Given the description of an element on the screen output the (x, y) to click on. 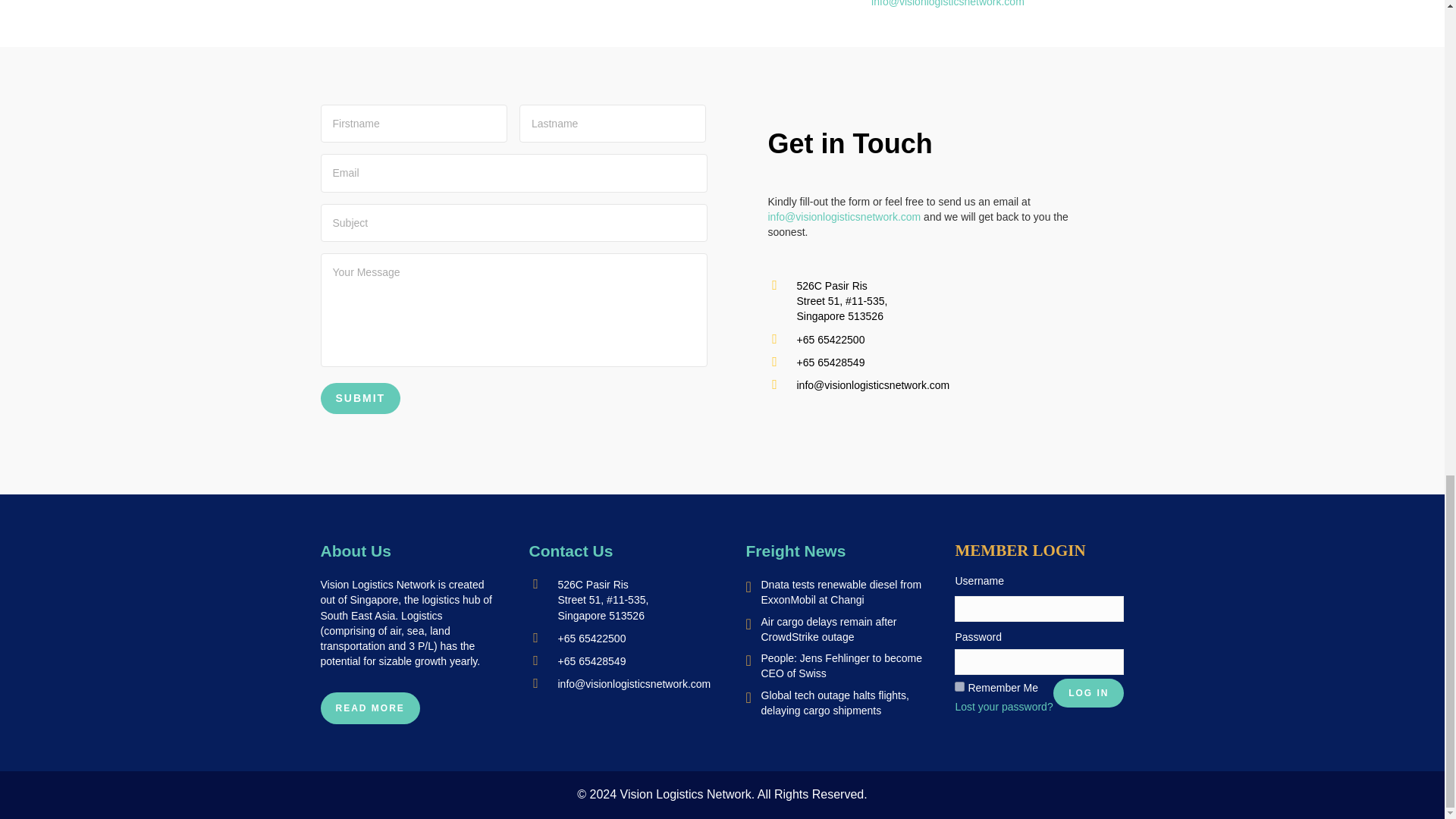
Log In (1088, 692)
Submit (360, 398)
Lost your password? (1003, 706)
READ MORE (369, 707)
forever (959, 686)
People: Jens Fehlinger to become CEO of Swiss (841, 665)
Dnata tests renewable diesel from ExxonMobil at Changi (841, 592)
Password Lost and Found (1003, 706)
Log In (1088, 692)
Global tech outage halts flights, delaying cargo shipments (834, 702)
Air cargo delays remain after CrowdStrike outage (828, 628)
Submit (360, 398)
